Given the description of an element on the screen output the (x, y) to click on. 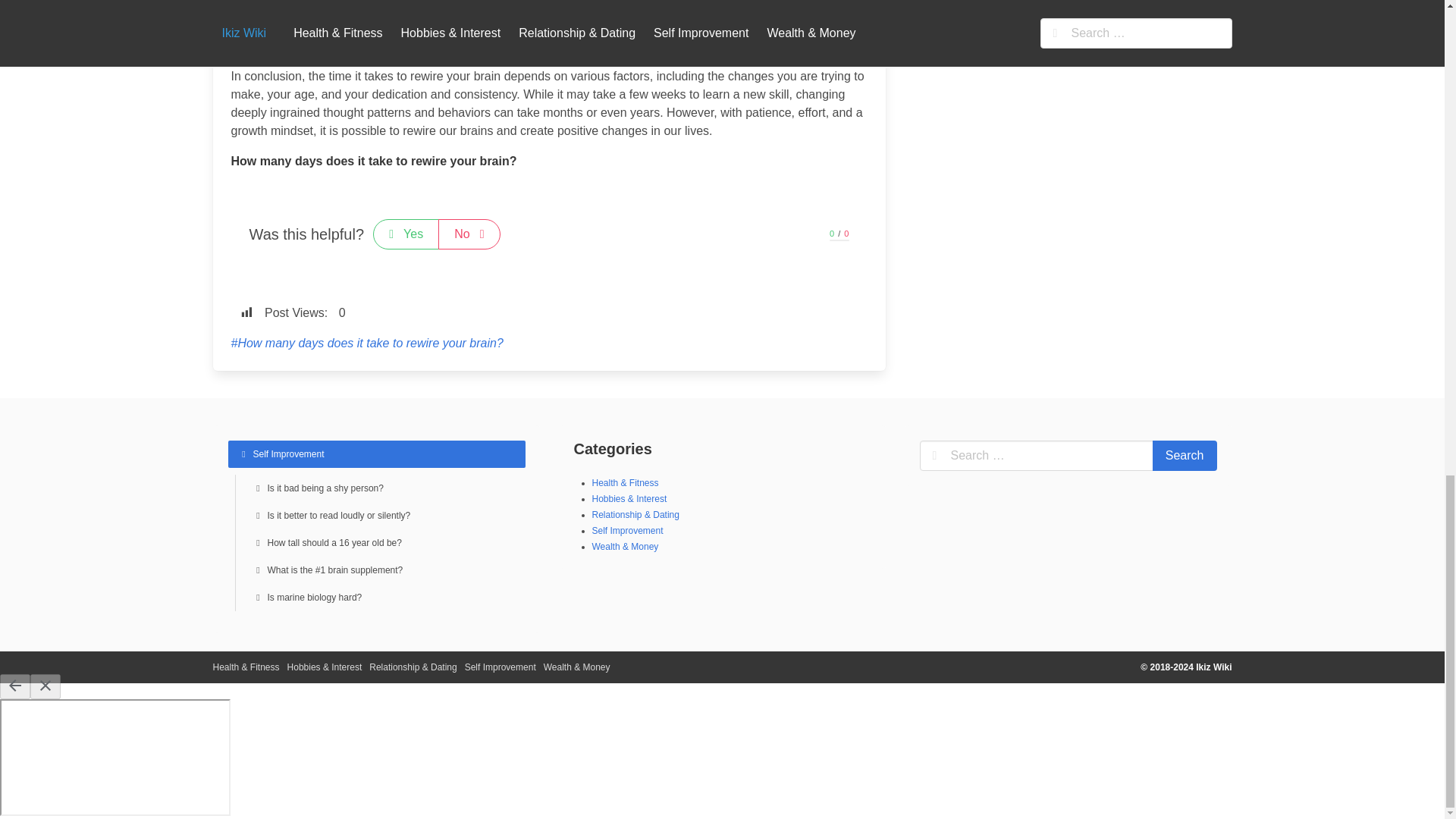
Search (1185, 455)
No (468, 234)
Yes (405, 234)
